Given the description of an element on the screen output the (x, y) to click on. 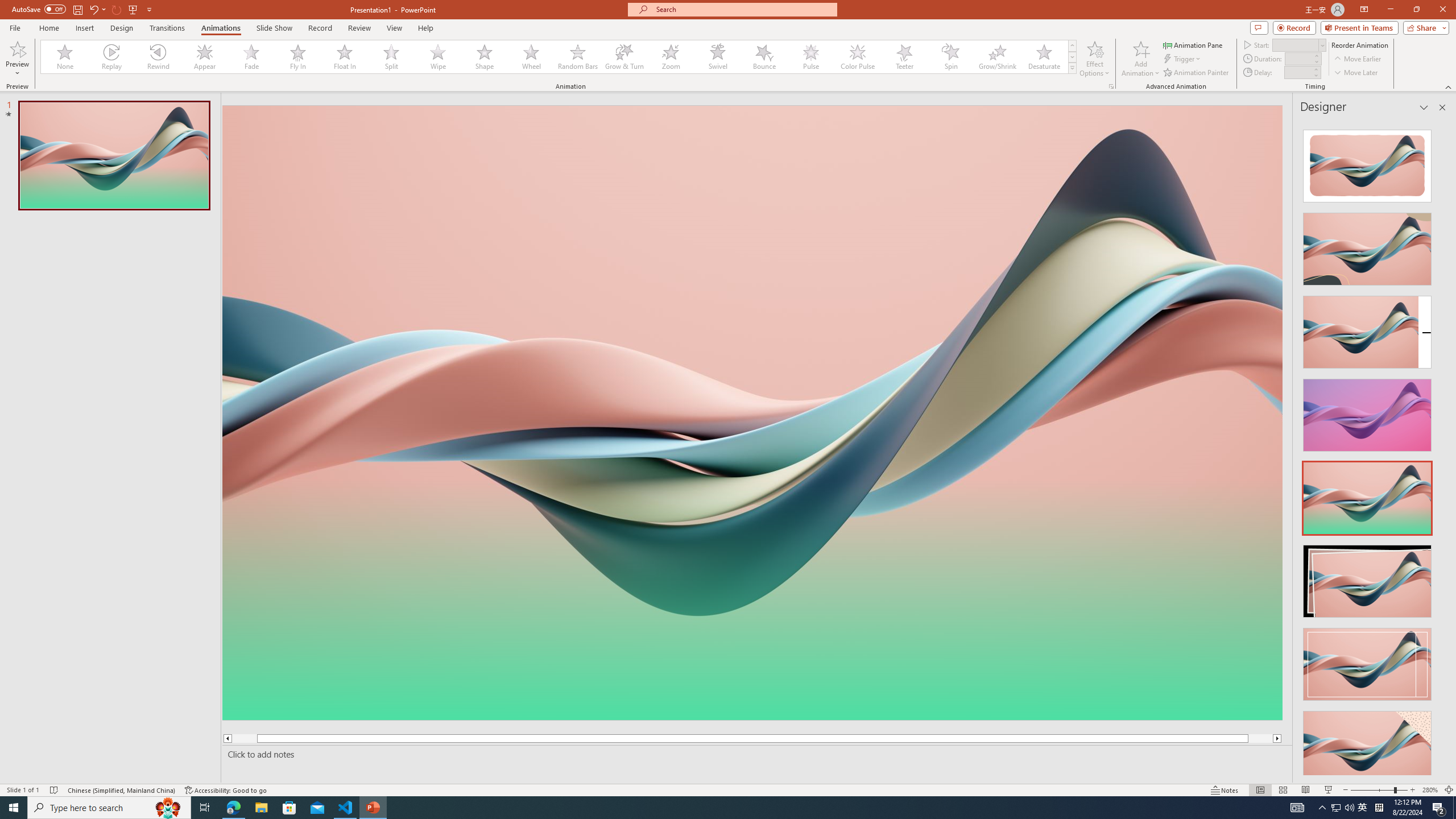
Zoom 280% (1430, 790)
Appear (205, 56)
Wheel (531, 56)
Animation Styles (1071, 67)
Animation Duration (1298, 58)
